Given the description of an element on the screen output the (x, y) to click on. 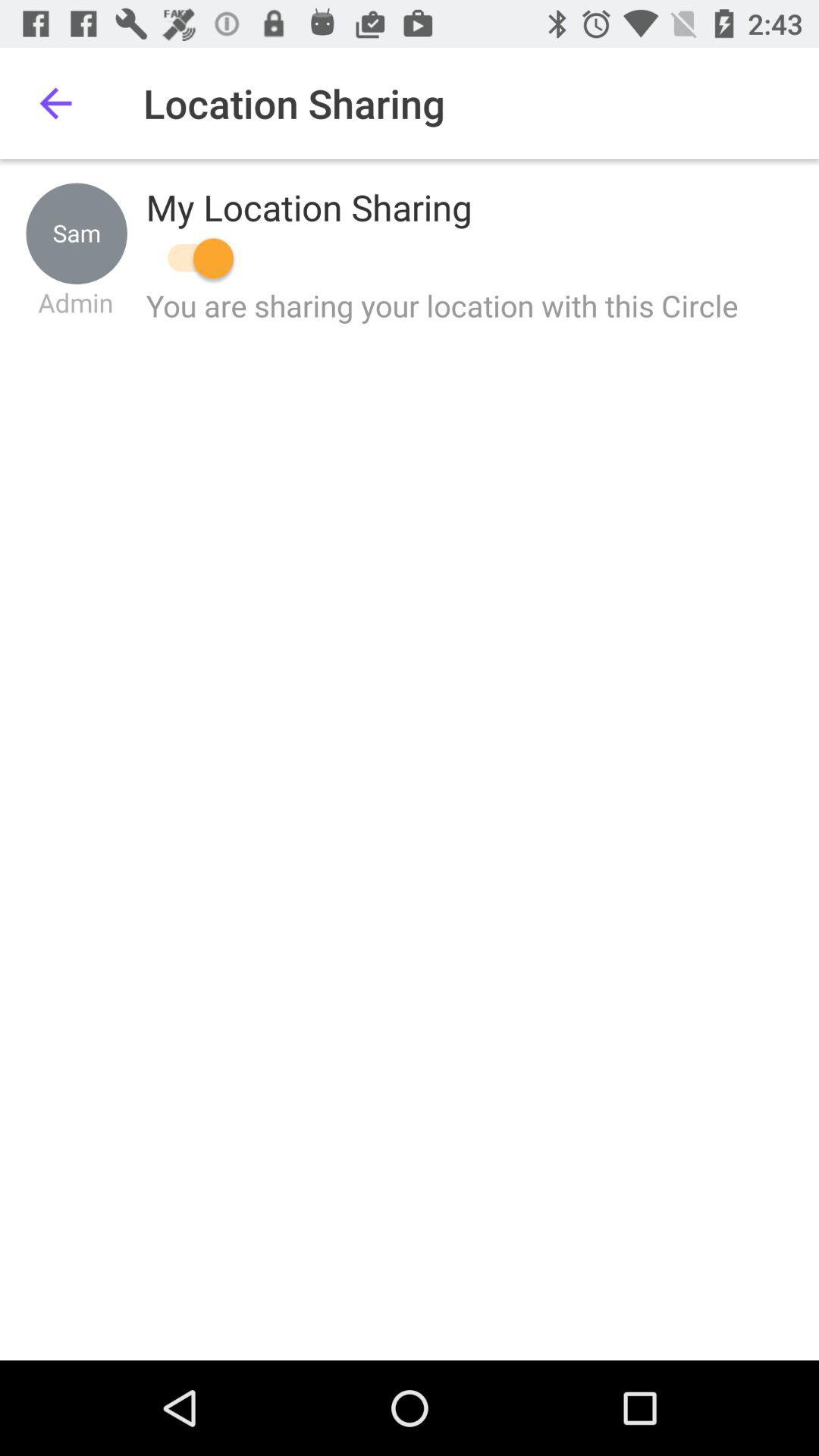
slide location off (193, 258)
